Given the description of an element on the screen output the (x, y) to click on. 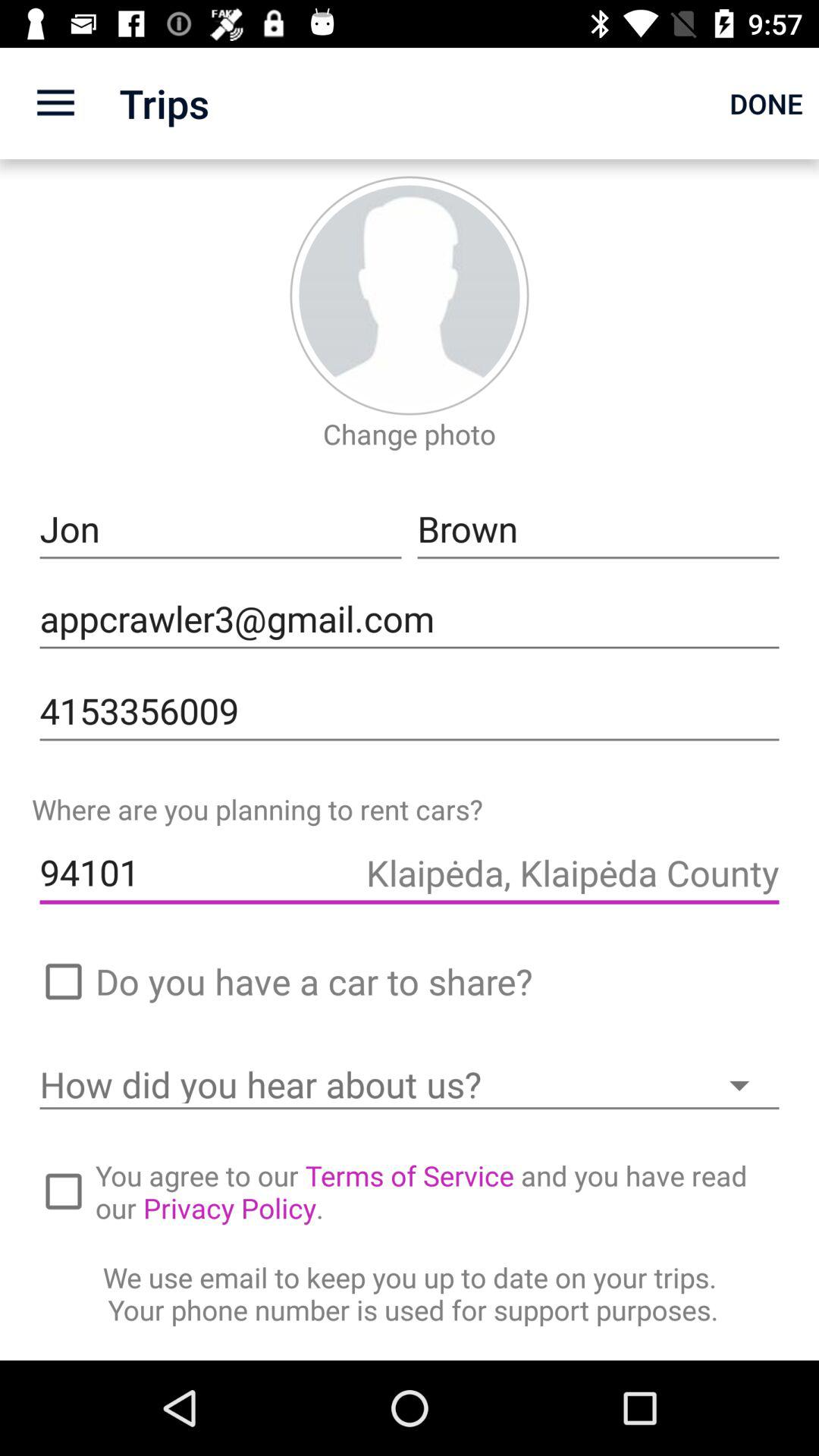
tap the icon above where are you item (409, 711)
